Given the description of an element on the screen output the (x, y) to click on. 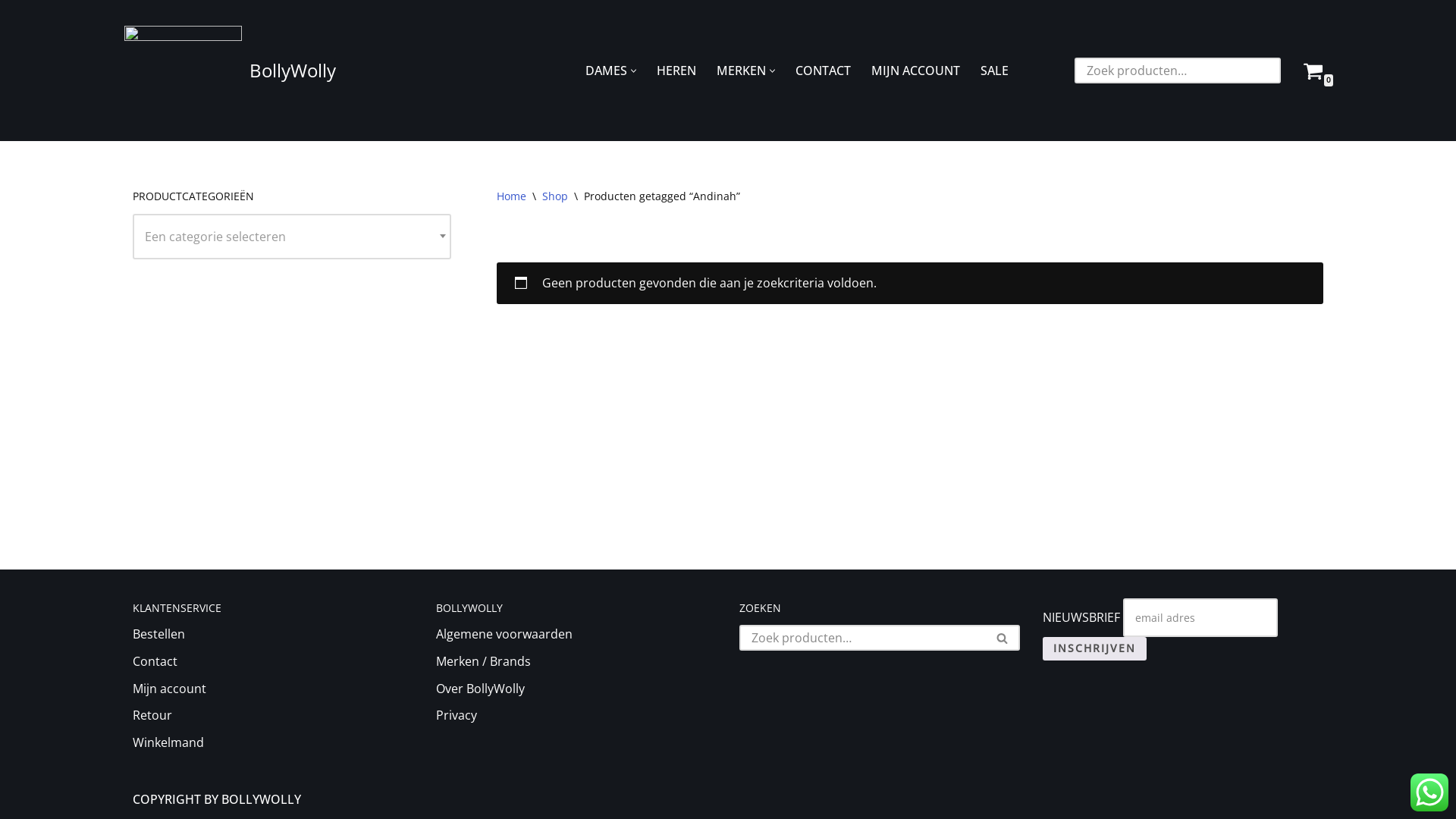
Mijn account Element type: text (169, 688)
MERKEN Element type: text (740, 70)
DAMES Element type: text (606, 70)
MIJN ACCOUNT Element type: text (915, 70)
WhatsApp Element type: hover (1429, 792)
Contact Element type: text (154, 660)
Privacy Element type: text (456, 714)
Retour Element type: text (152, 714)
Shop Element type: text (554, 195)
Winkelmand Element type: text (167, 742)
Bestellen Element type: text (158, 633)
BOLLYWOLLY Element type: text (261, 798)
Algemene voorwaarden Element type: text (504, 633)
SALE Element type: text (994, 70)
0 Element type: text (1312, 70)
Home Element type: text (511, 195)
Over BollyWolly Element type: text (480, 688)
BollyWolly Element type: text (229, 70)
HEREN Element type: text (676, 70)
INSCHRIJVEN Element type: text (1094, 648)
Ga naar de inhoud Element type: text (11, 31)
CONTACT Element type: text (822, 70)
Merken / Brands Element type: text (483, 660)
